Given the description of an element on the screen output the (x, y) to click on. 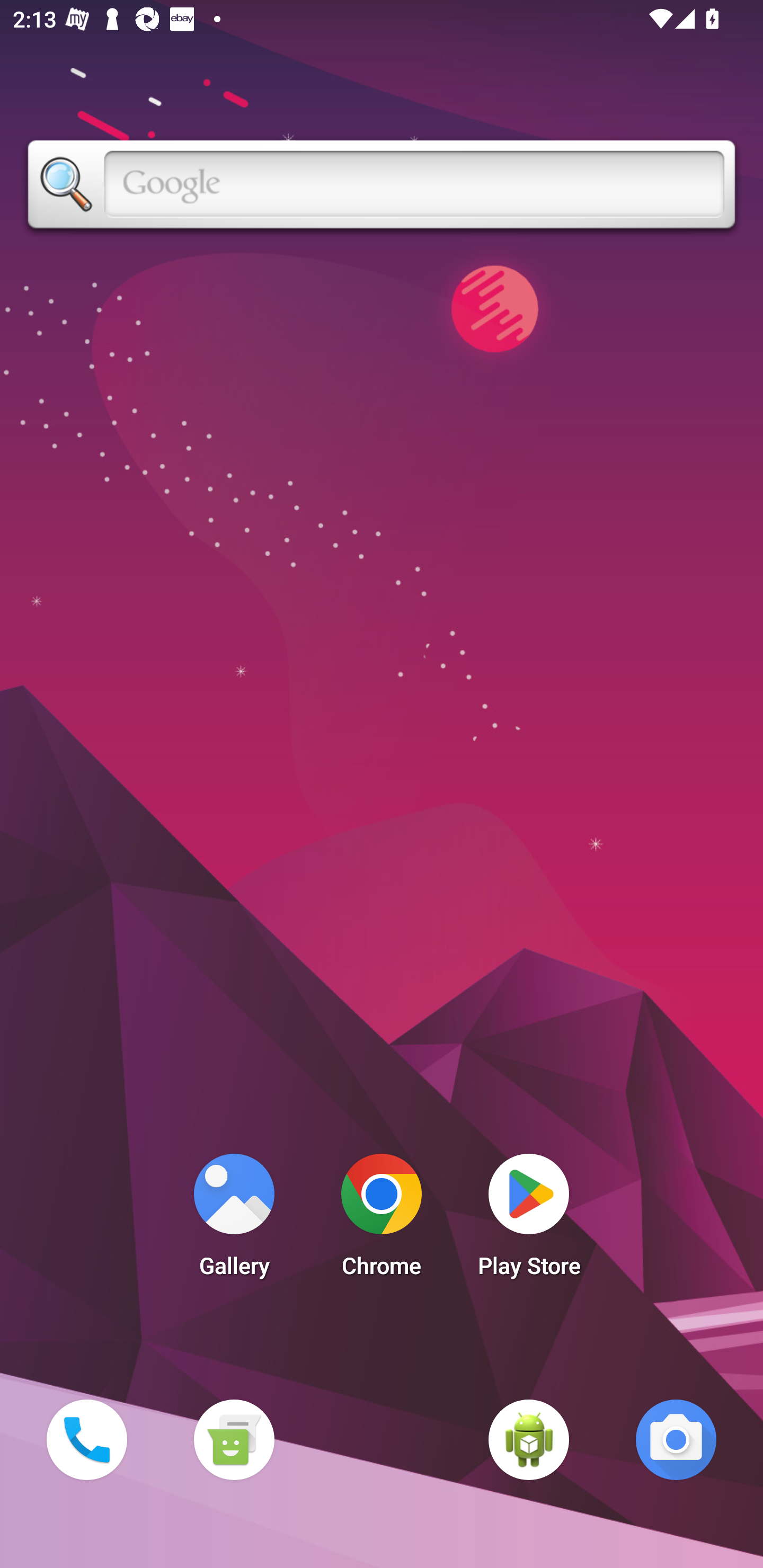
Gallery (233, 1220)
Chrome (381, 1220)
Play Store (528, 1220)
Phone (86, 1439)
Messaging (233, 1439)
WebView Browser Tester (528, 1439)
Camera (676, 1439)
